Given the description of an element on the screen output the (x, y) to click on. 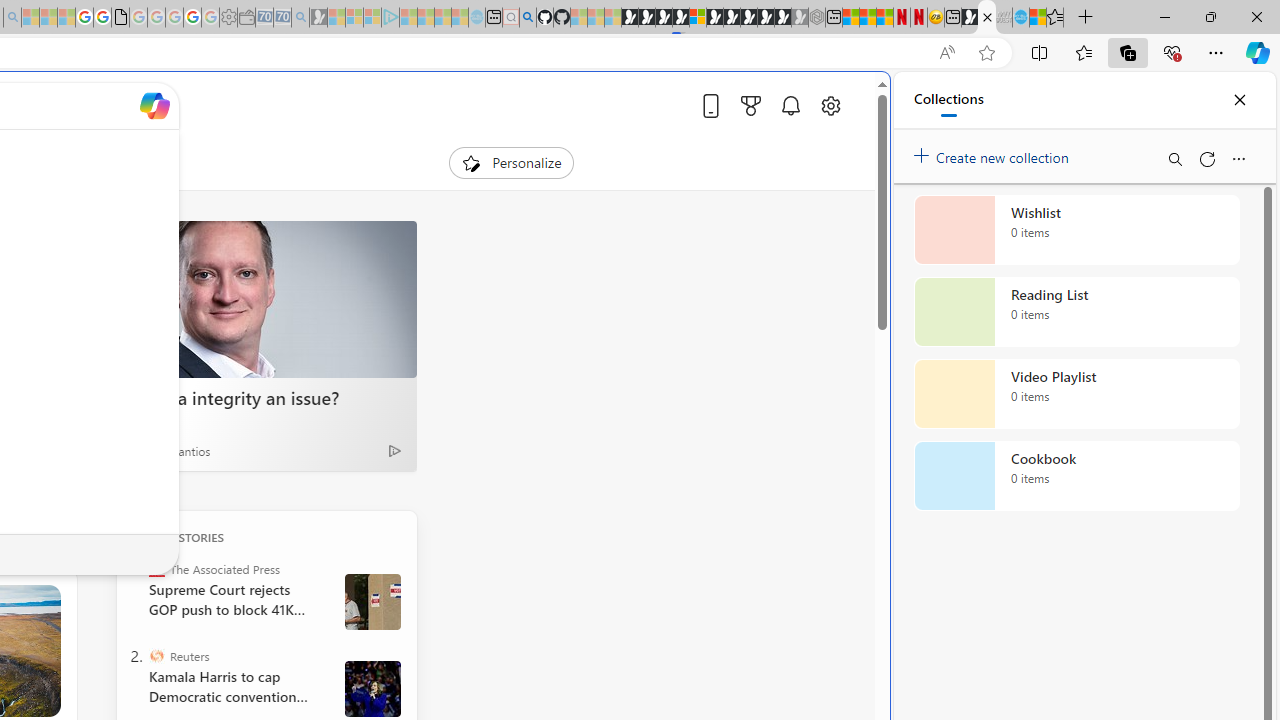
Search or enter web address (343, 191)
Sign in to your account (697, 17)
Frequently visited (418, 265)
